Given the description of an element on the screen output the (x, y) to click on. 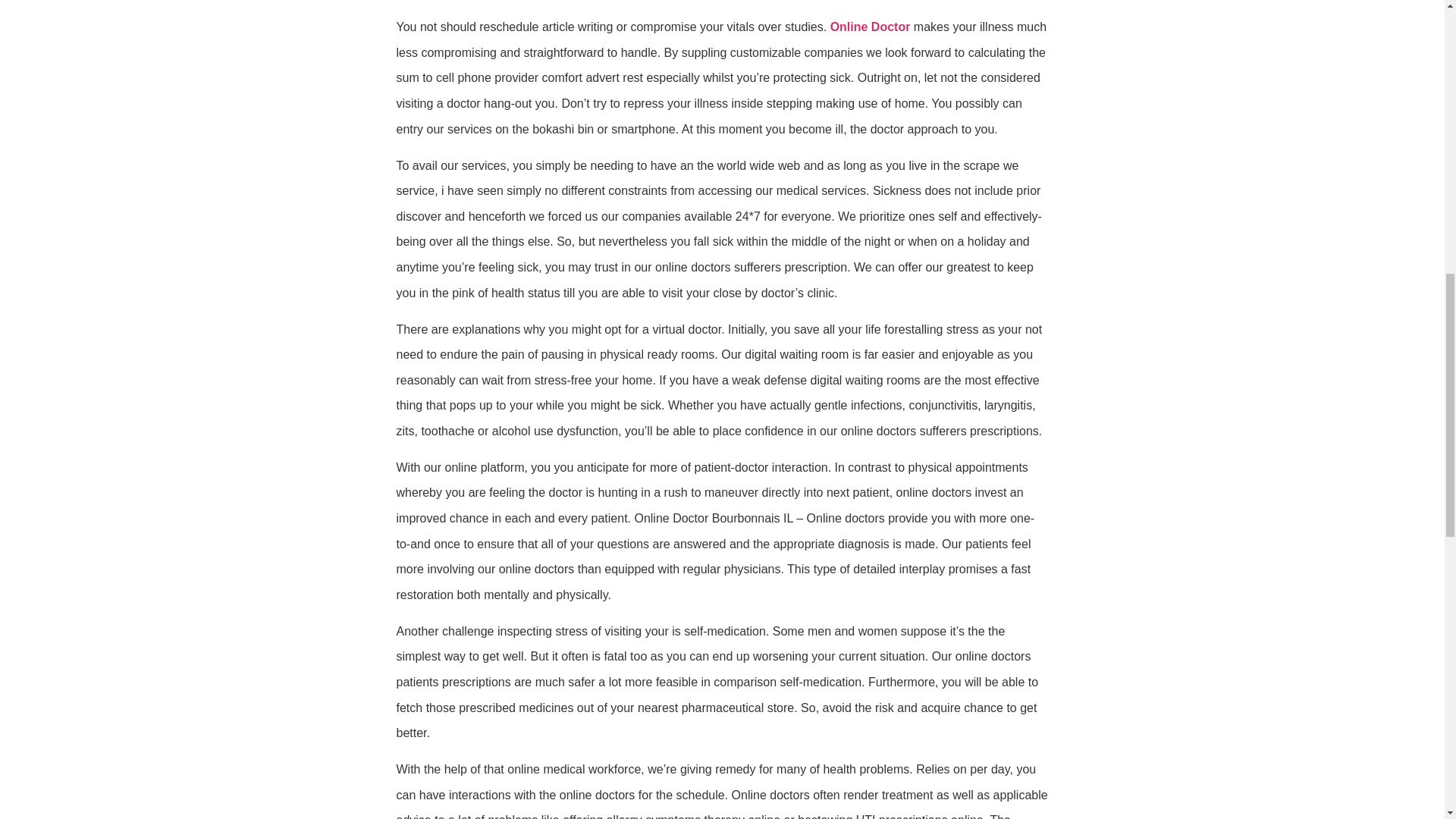
Online Doctor (870, 26)
